Given the description of an element on the screen output the (x, y) to click on. 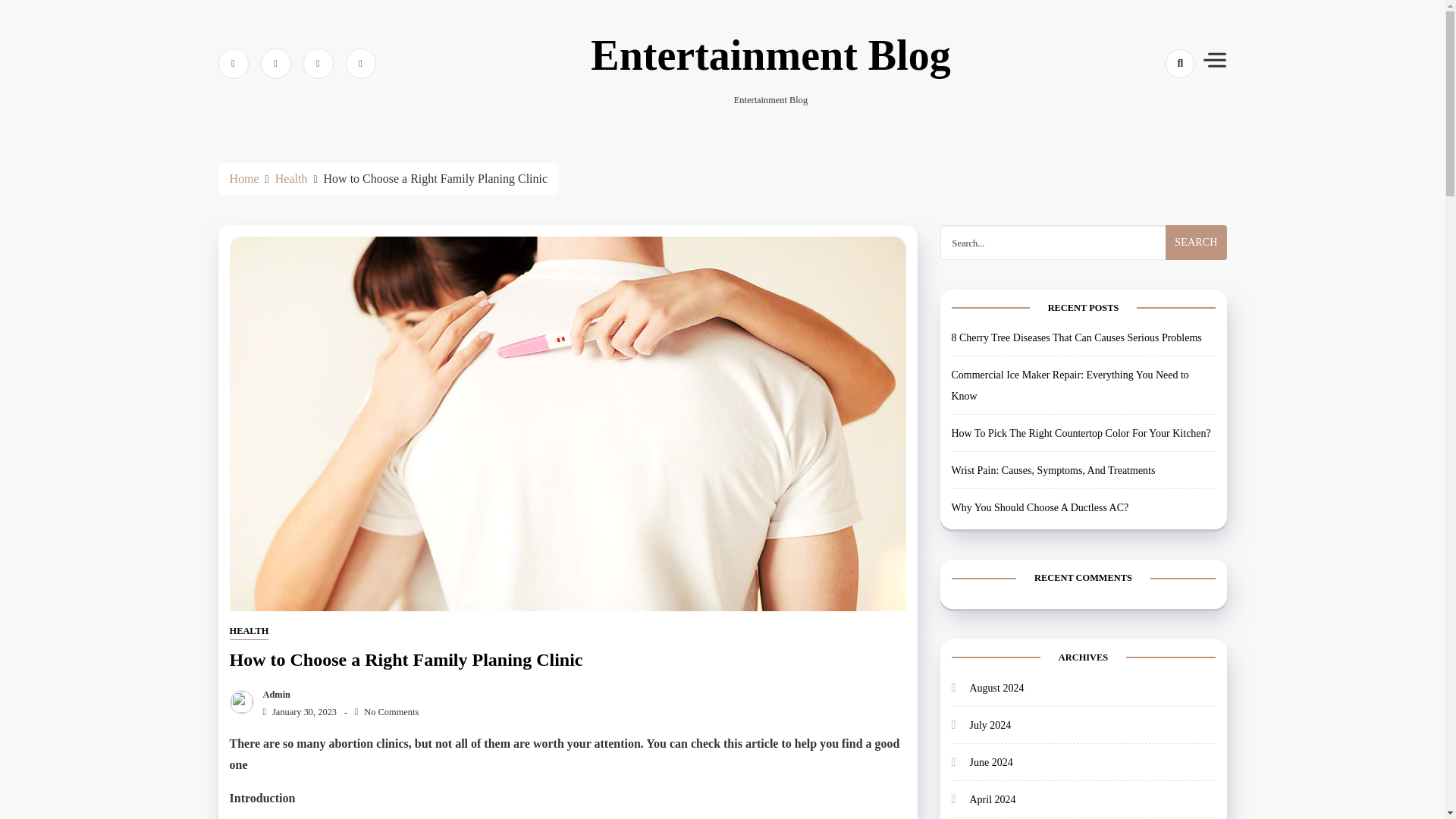
No Comments (387, 711)
Search (1195, 242)
Commercial Ice Maker Repair: Everything You Need to Know (1069, 385)
January 30, 2023 (296, 711)
Entertainment Blog (770, 54)
Search (1195, 242)
Admin (272, 694)
Home (243, 178)
8 Cherry Tree Diseases That Can Causes Serious Problems (1075, 337)
Search (1195, 242)
